Given the description of an element on the screen output the (x, y) to click on. 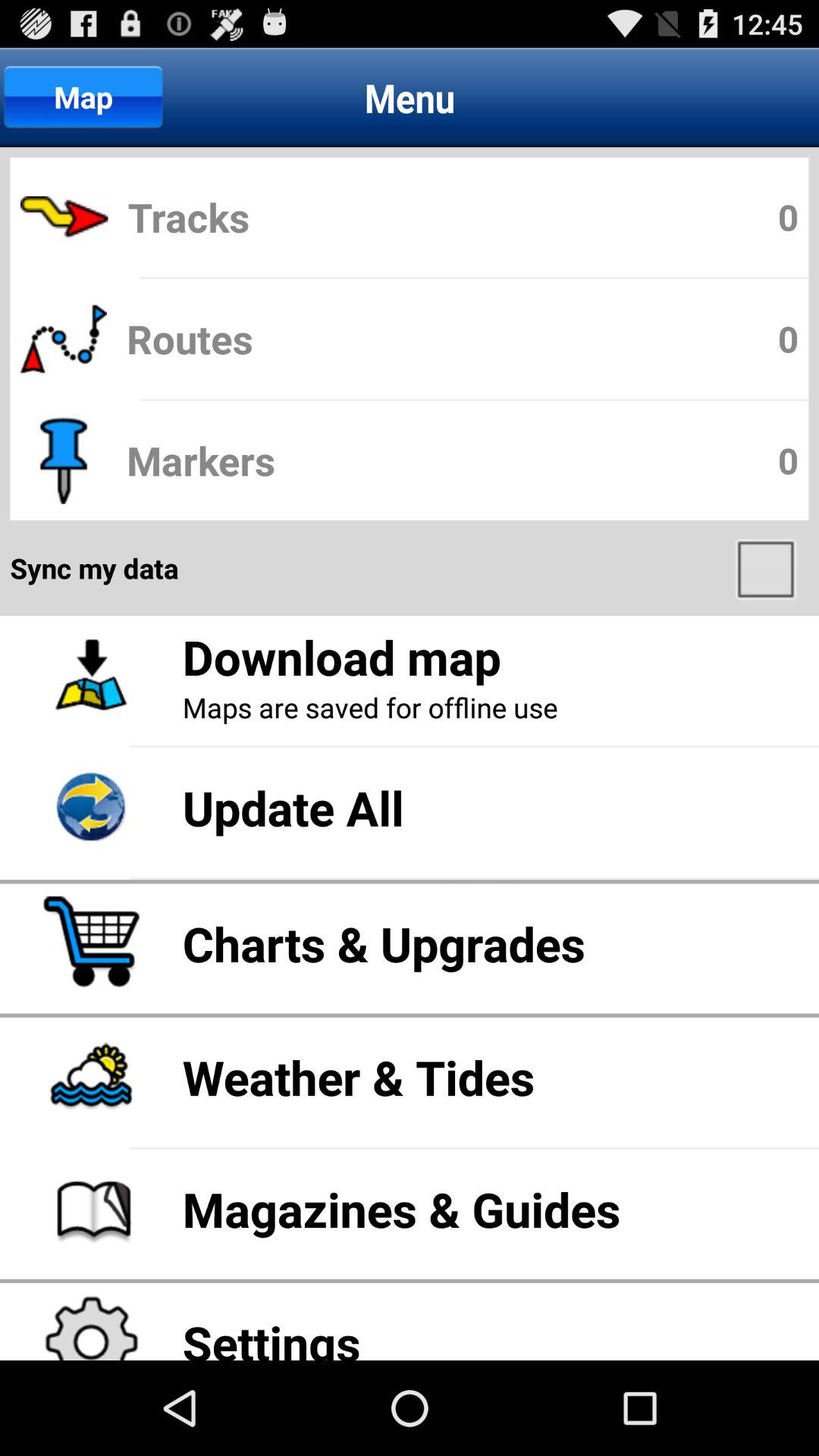
turn off the item on the right (767, 567)
